Given the description of an element on the screen output the (x, y) to click on. 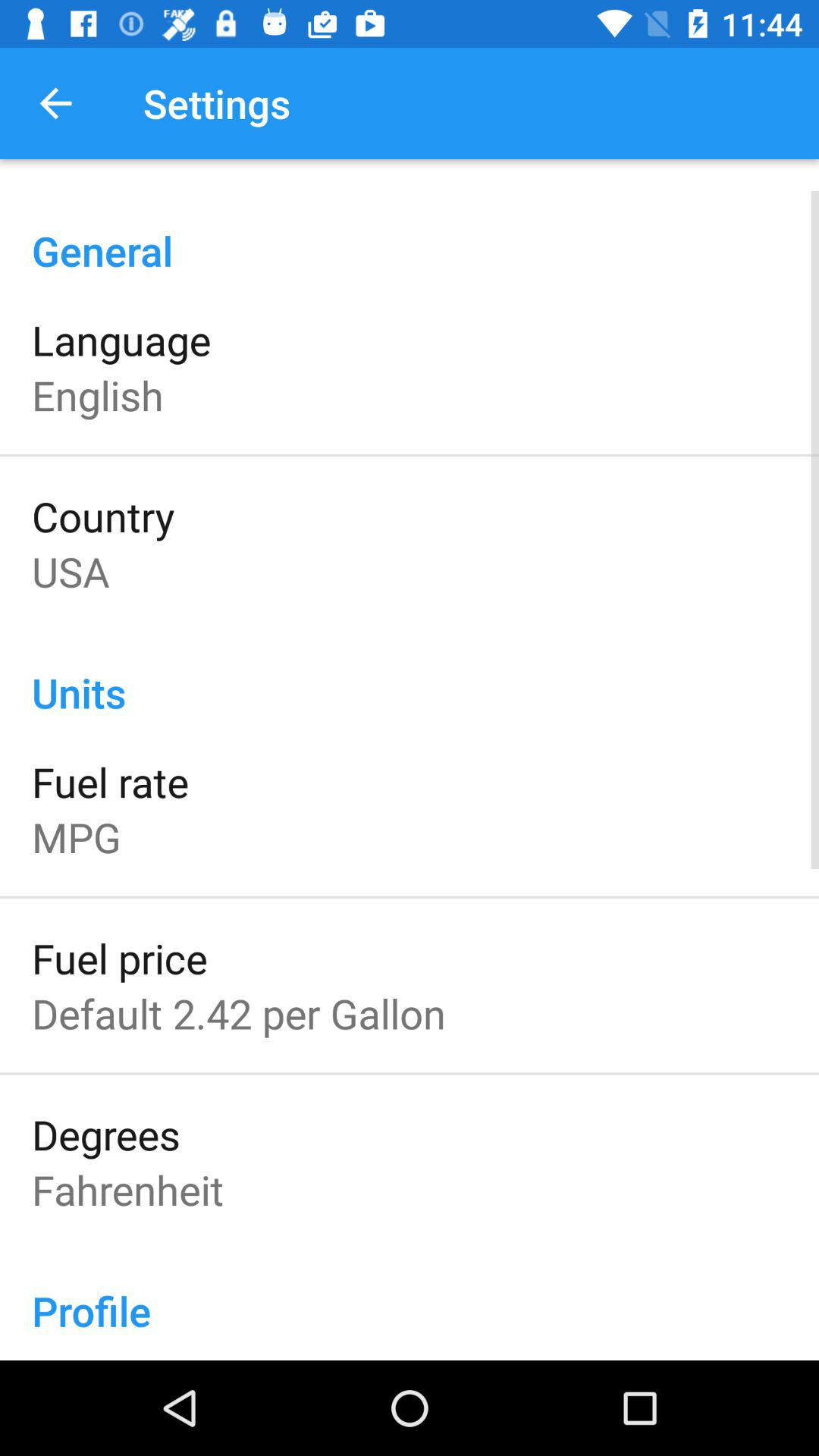
open units at the center (409, 676)
